Given the description of an element on the screen output the (x, y) to click on. 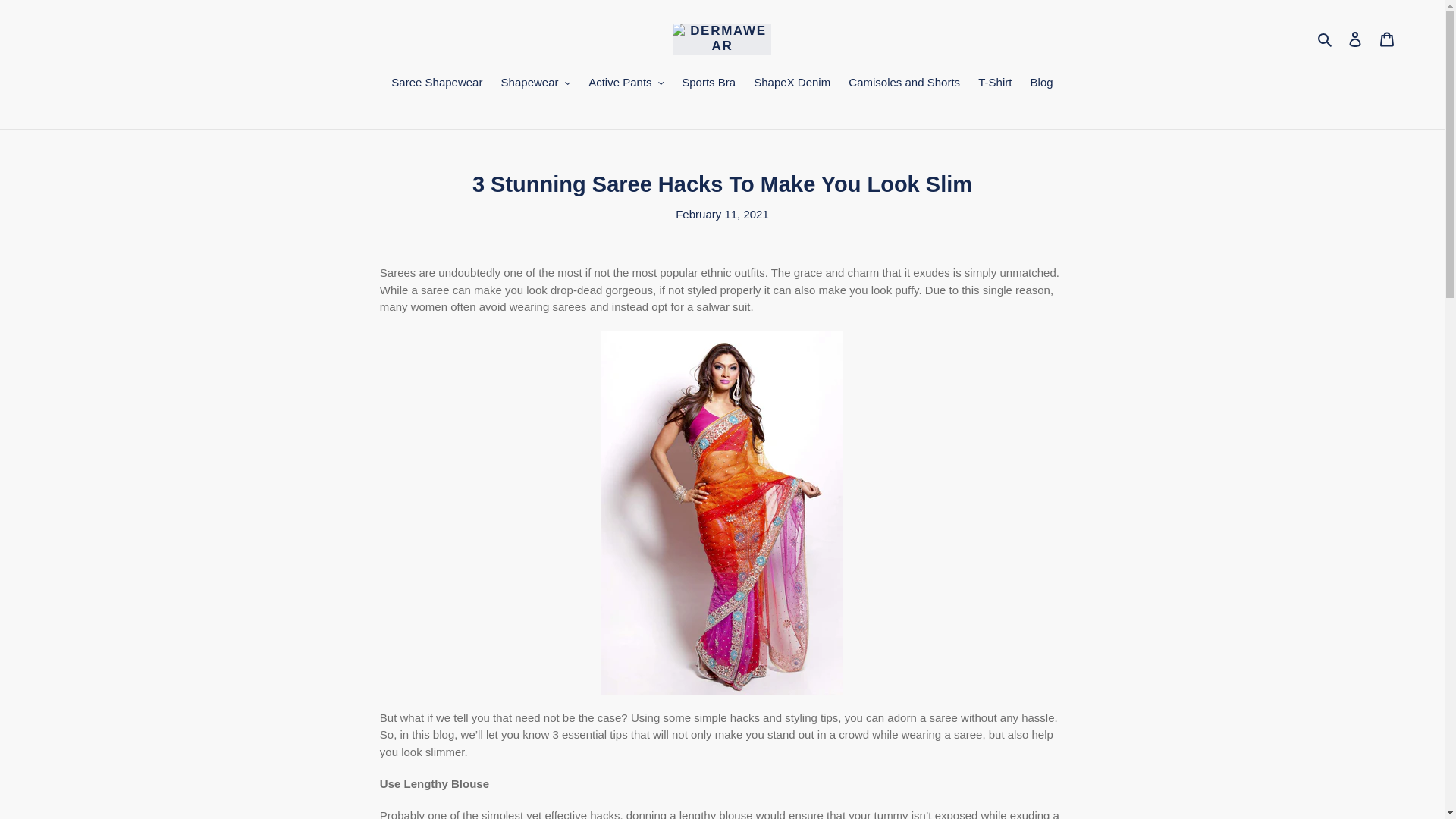
Search (1326, 38)
ShapeX Denim (791, 84)
Saree Shapewear (436, 84)
T-Shirt (995, 84)
Cart (1387, 38)
Camisoles and Shorts (904, 84)
Sports Bra (708, 84)
Active Pants (625, 84)
Log in (1355, 38)
Shapewear (535, 84)
